Given the description of an element on the screen output the (x, y) to click on. 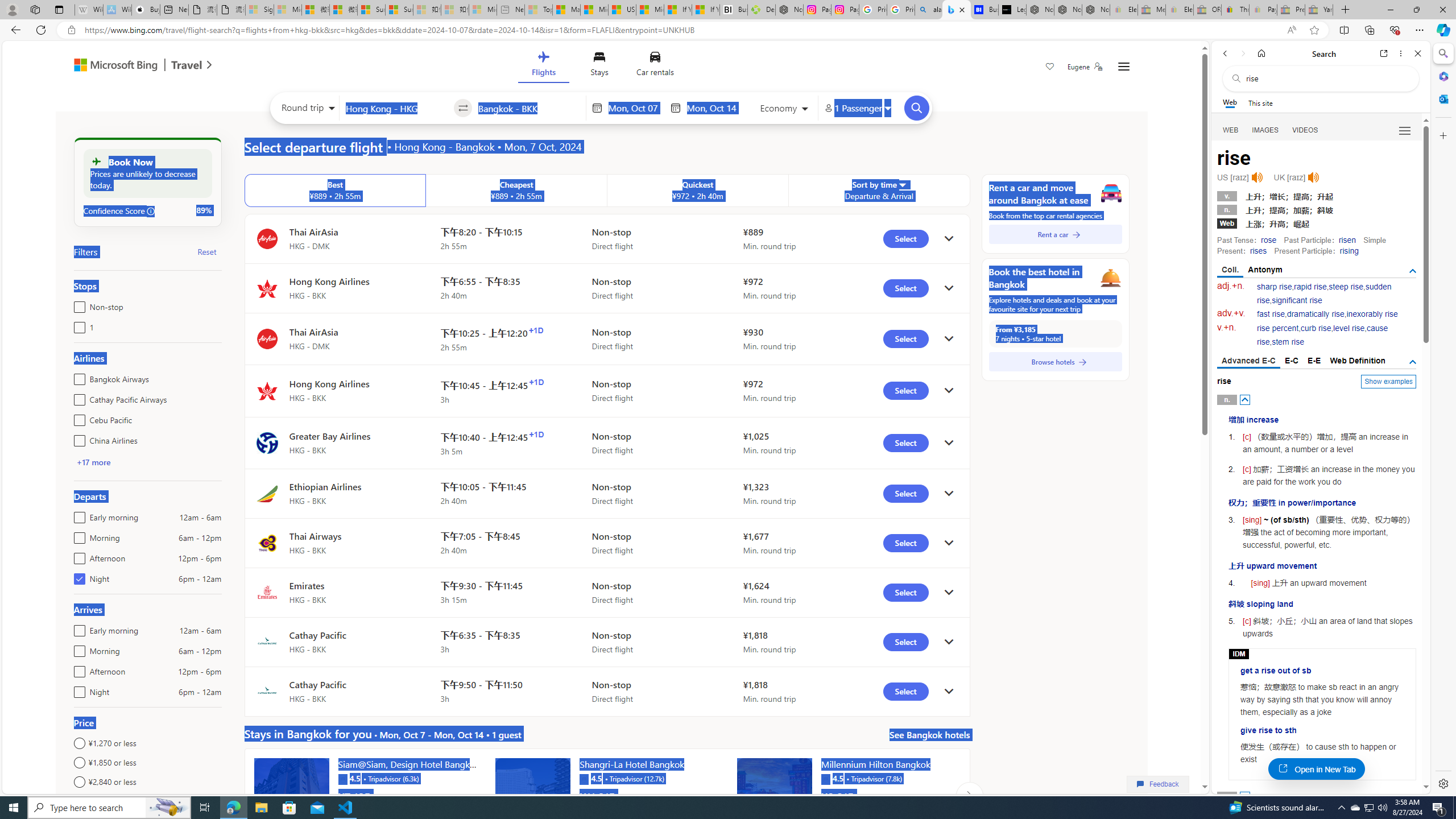
Coll. (1230, 270)
Non-stop (76, 304)
Browse hotels (1055, 361)
Microsoft Bing Travel - Flights from Hong Kong to Bangkok (956, 9)
China Airlines (76, 438)
